Given the description of an element on the screen output the (x, y) to click on. 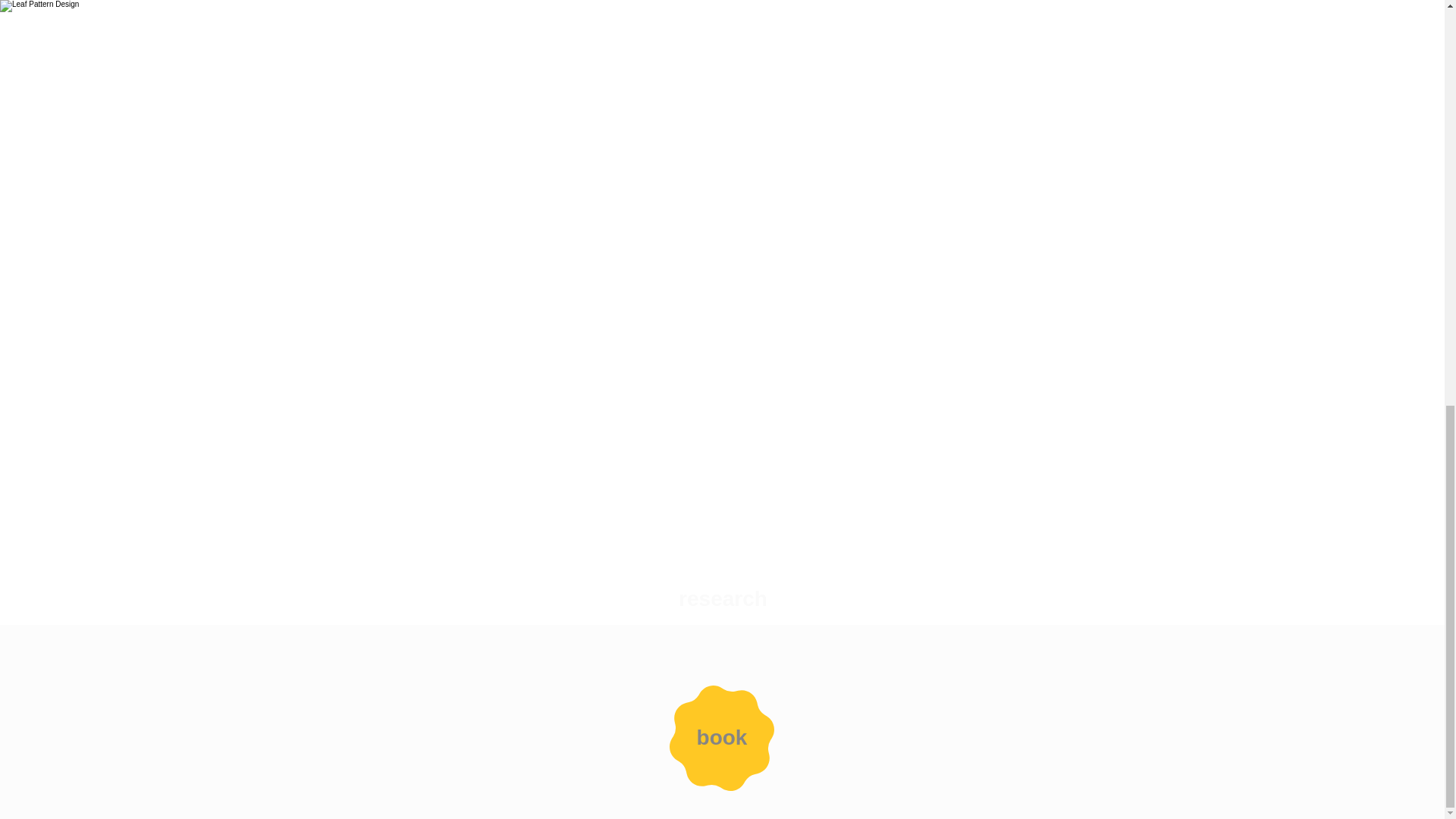
research (722, 598)
book (722, 737)
